Given the description of an element on the screen output the (x, y) to click on. 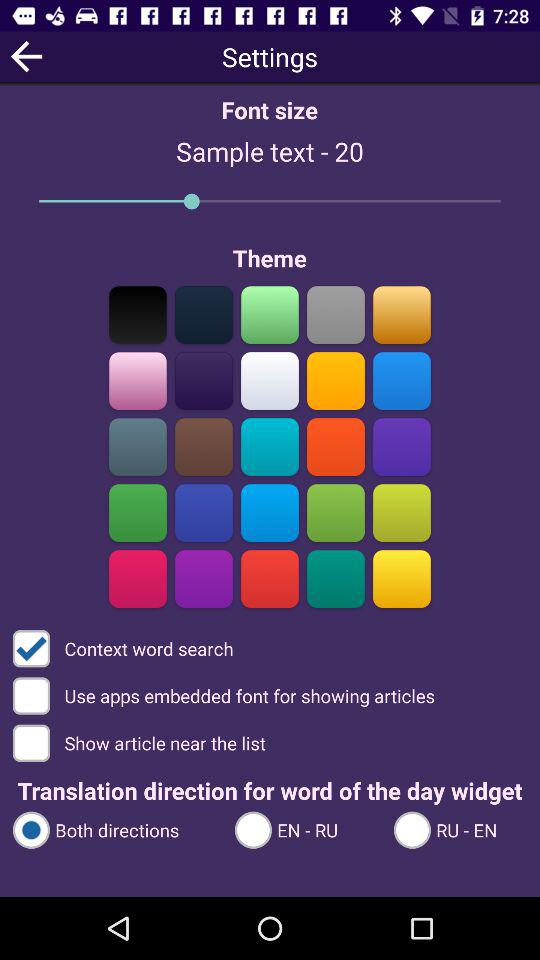
change color to blue (203, 512)
